Given the description of an element on the screen output the (x, y) to click on. 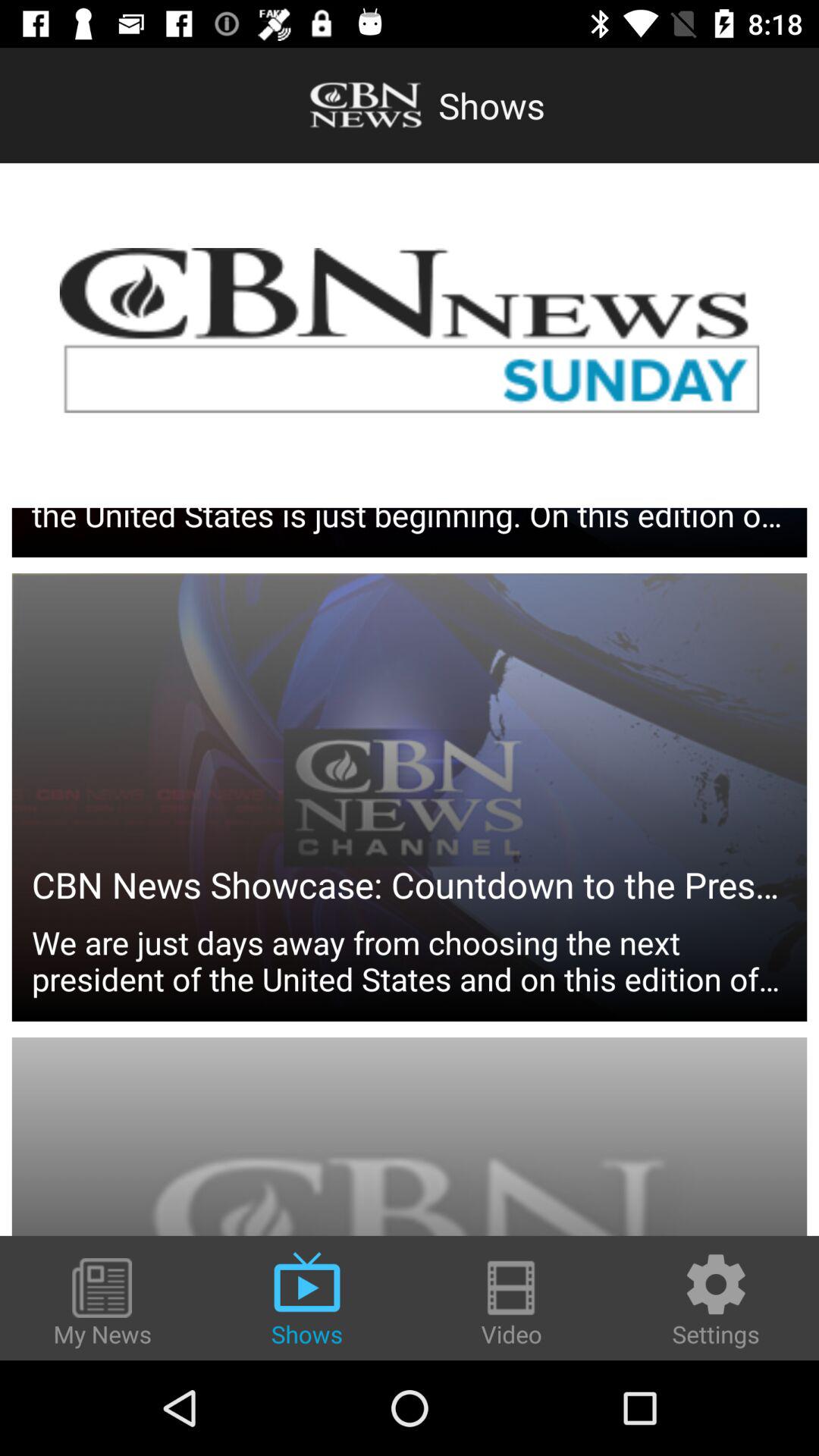
turn on the item to the left of the shows (102, 1304)
